Given the description of an element on the screen output the (x, y) to click on. 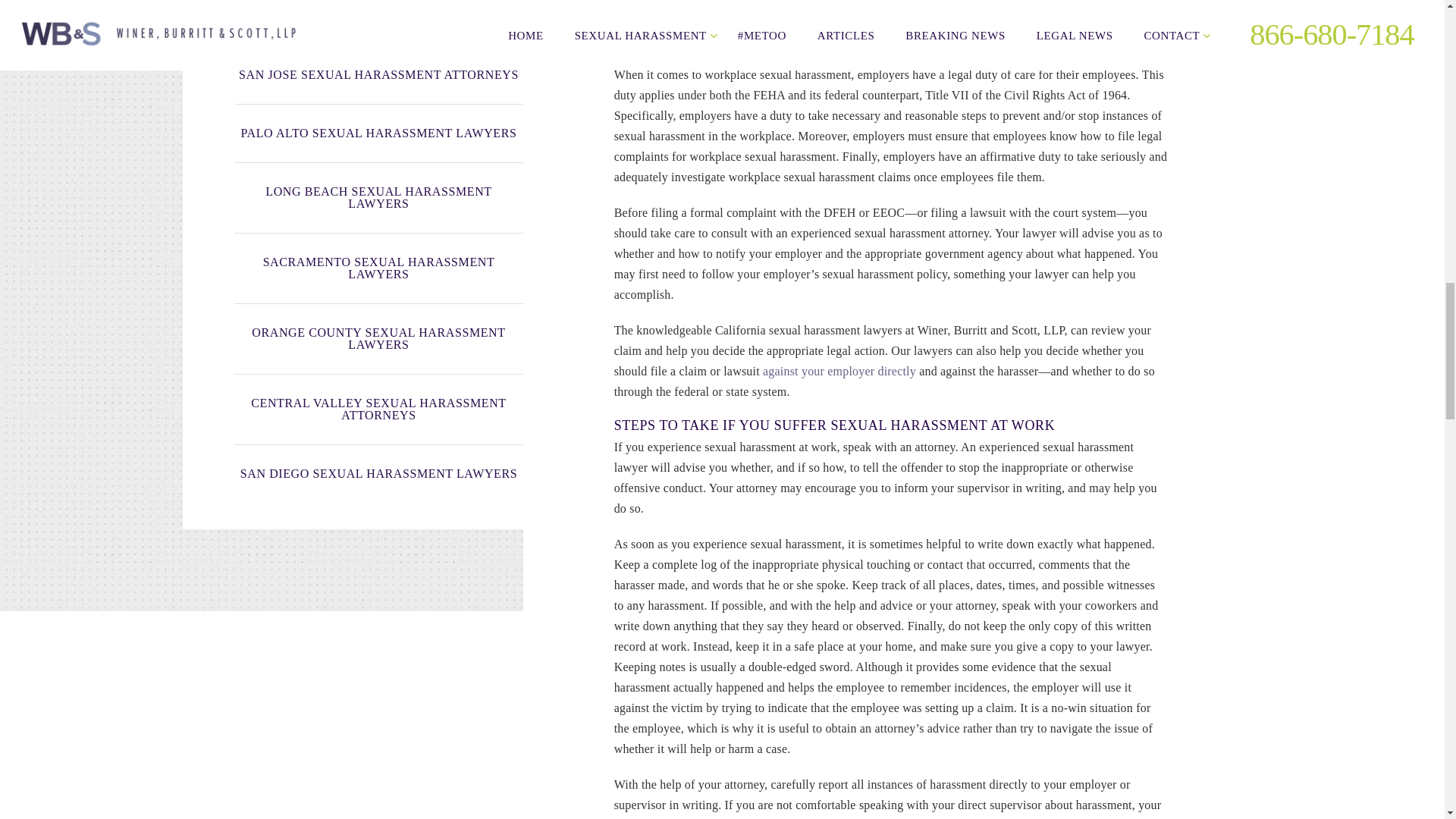
against your employer directly (838, 370)
